Given the description of an element on the screen output the (x, y) to click on. 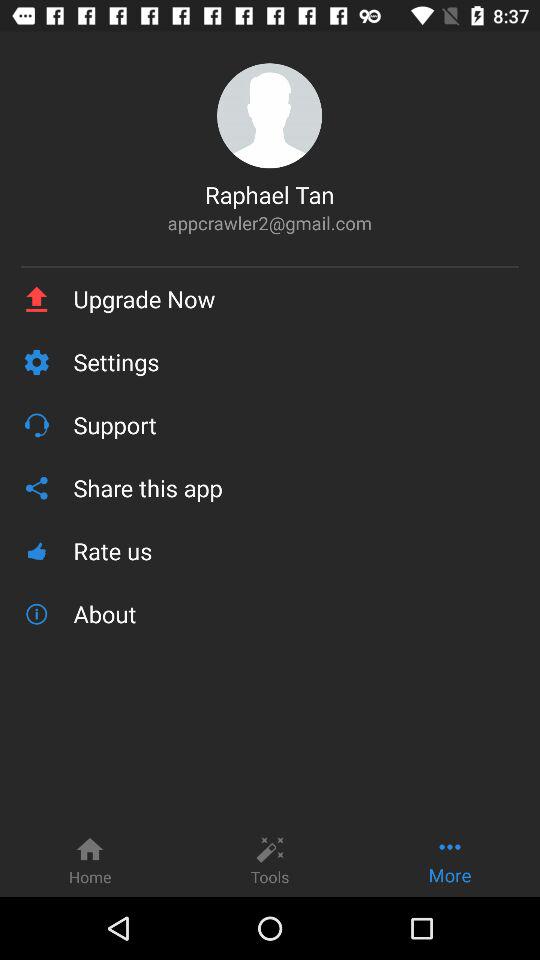
tap the rate us icon (296, 550)
